Given the description of an element on the screen output the (x, y) to click on. 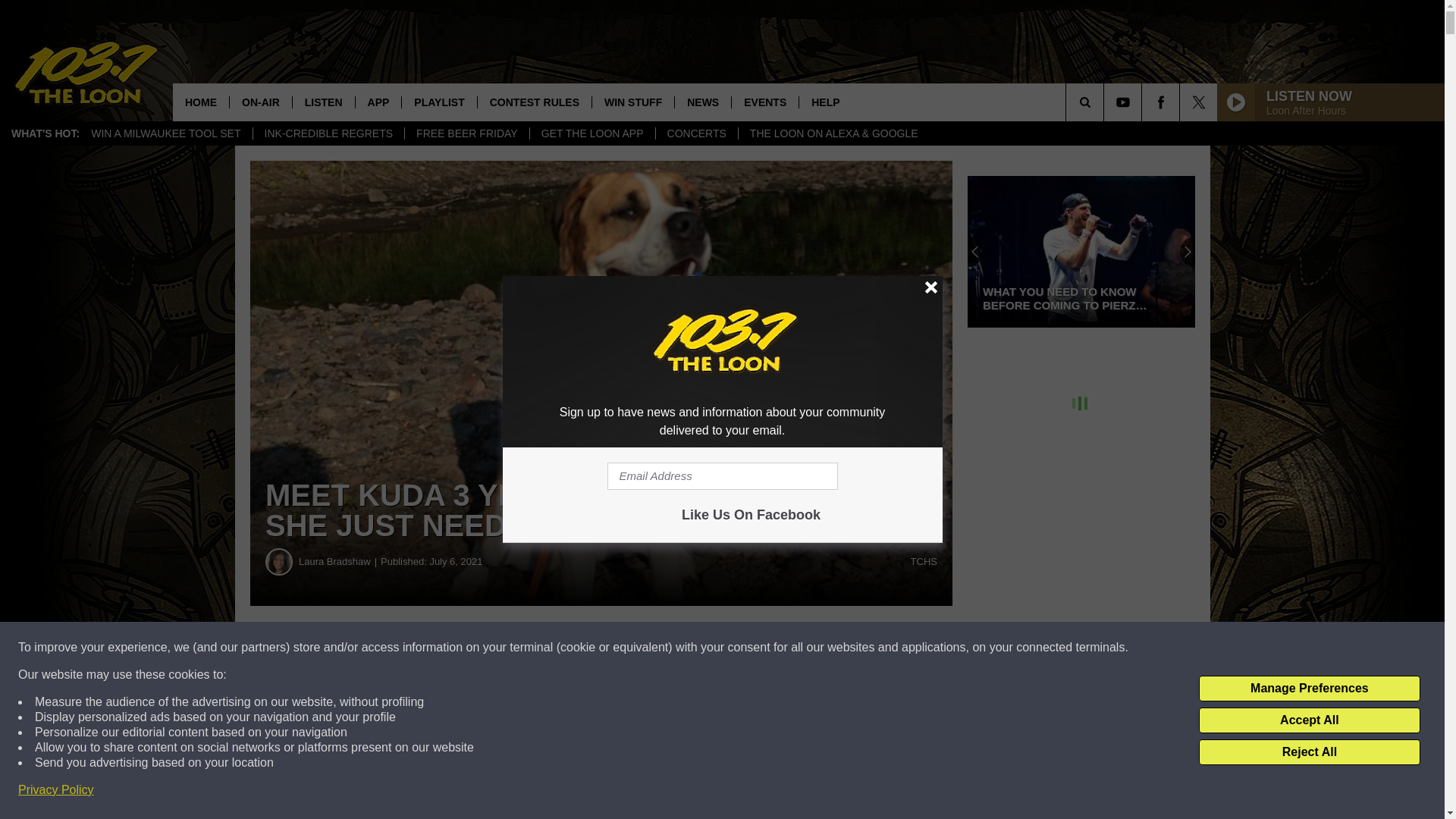
CONCERTS (696, 133)
GET THE LOON APP (592, 133)
ON-AIR (260, 102)
SEARCH (1106, 102)
WIN A MILWAUKEE TOOL SET (165, 133)
PLAYLIST (438, 102)
Manage Preferences (1309, 688)
SEARCH (1106, 102)
Email Address (722, 475)
CONTEST RULES (534, 102)
Share on Facebook (460, 647)
Reject All (1309, 751)
APP (378, 102)
Privacy Policy (55, 789)
INK-CREDIBLE REGRETS (327, 133)
